Given the description of an element on the screen output the (x, y) to click on. 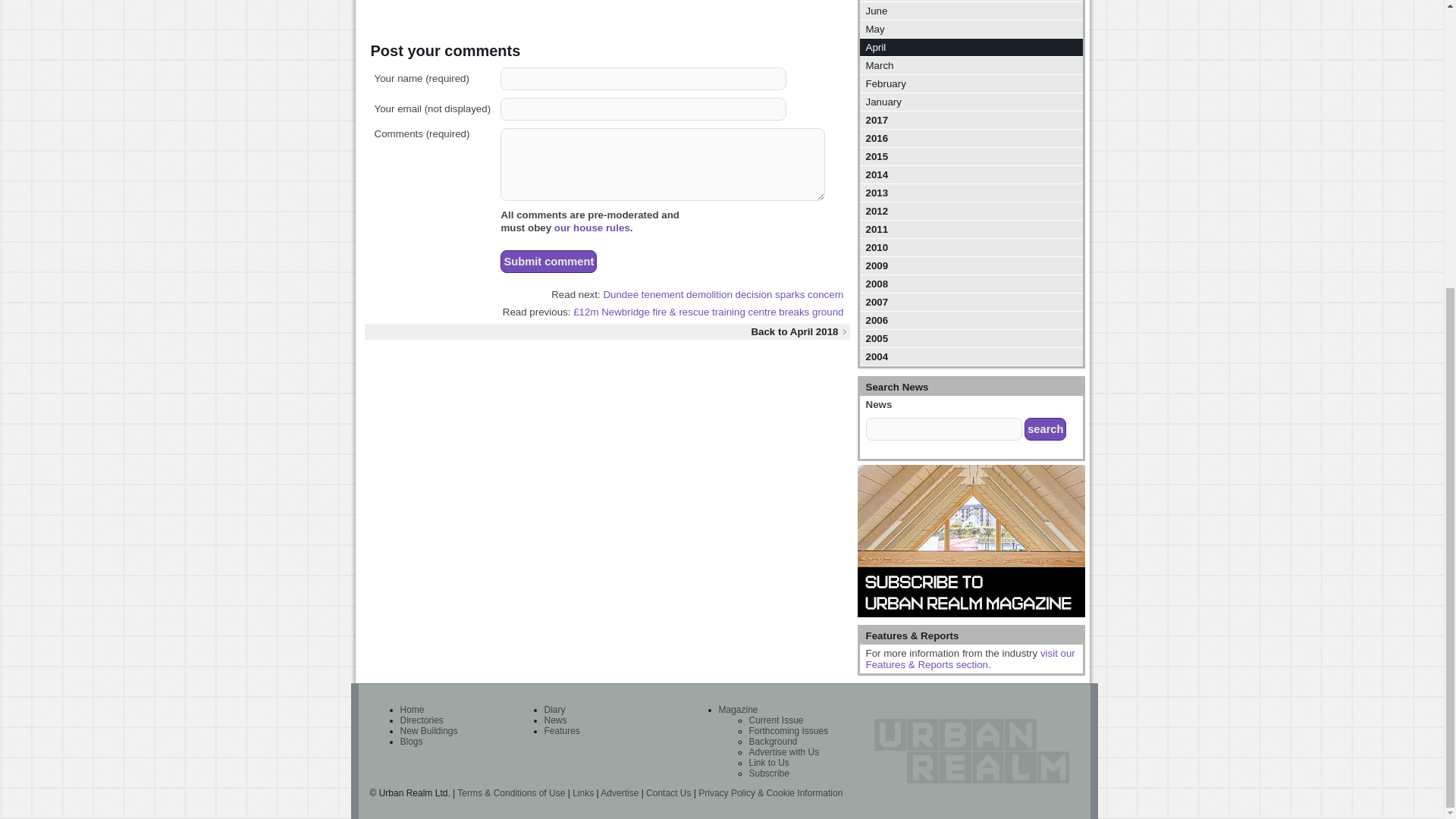
our house rules (592, 227)
search (1045, 428)
Submit comment (548, 261)
Back to April 2018 (606, 331)
Dundee tenement demolition decision sparks concern (722, 294)
Submit comment (548, 261)
Subscribe to Urban Realm Magazine (970, 541)
